Given the description of an element on the screen output the (x, y) to click on. 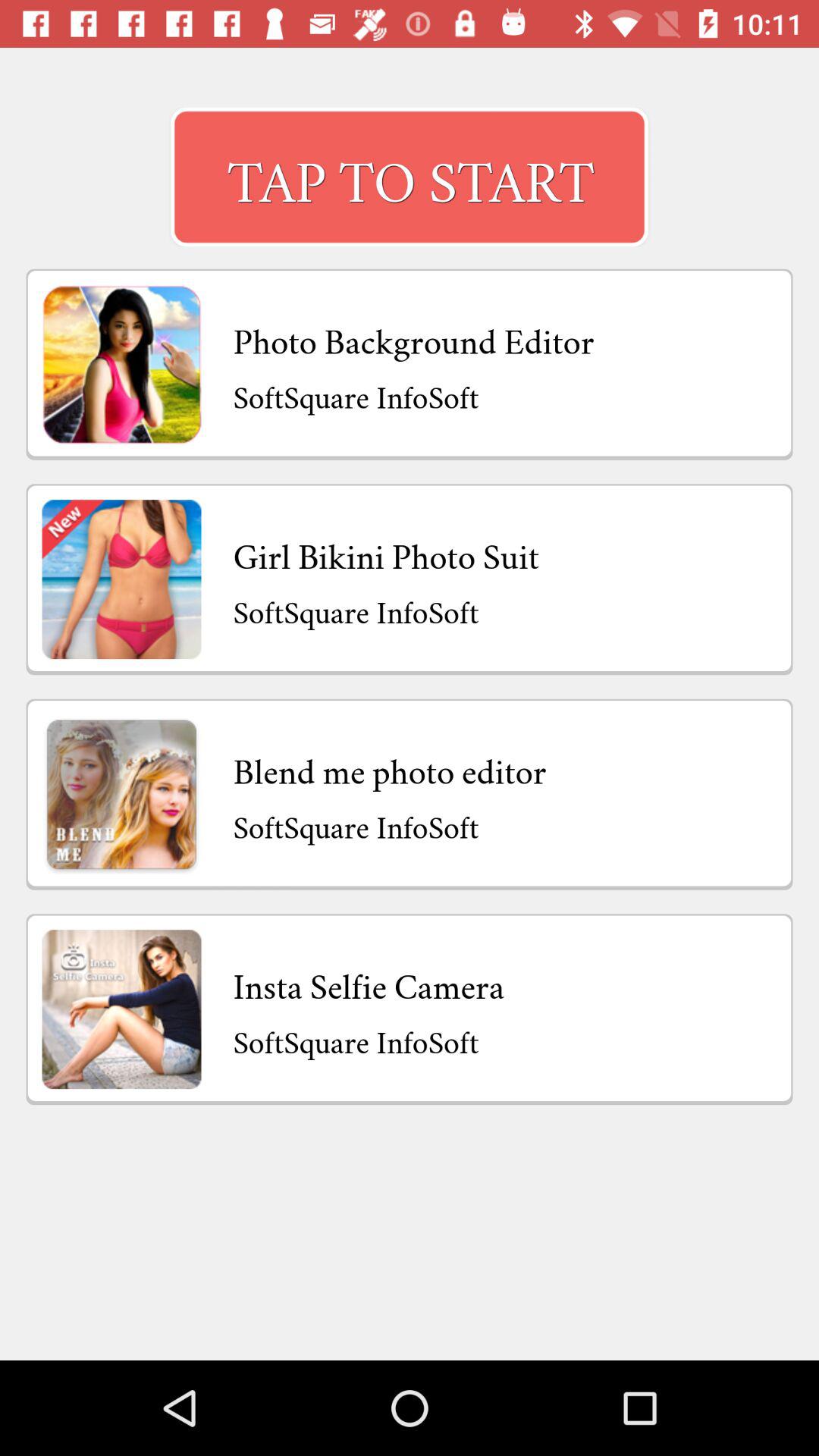
scroll to the tap to start icon (409, 176)
